Given the description of an element on the screen output the (x, y) to click on. 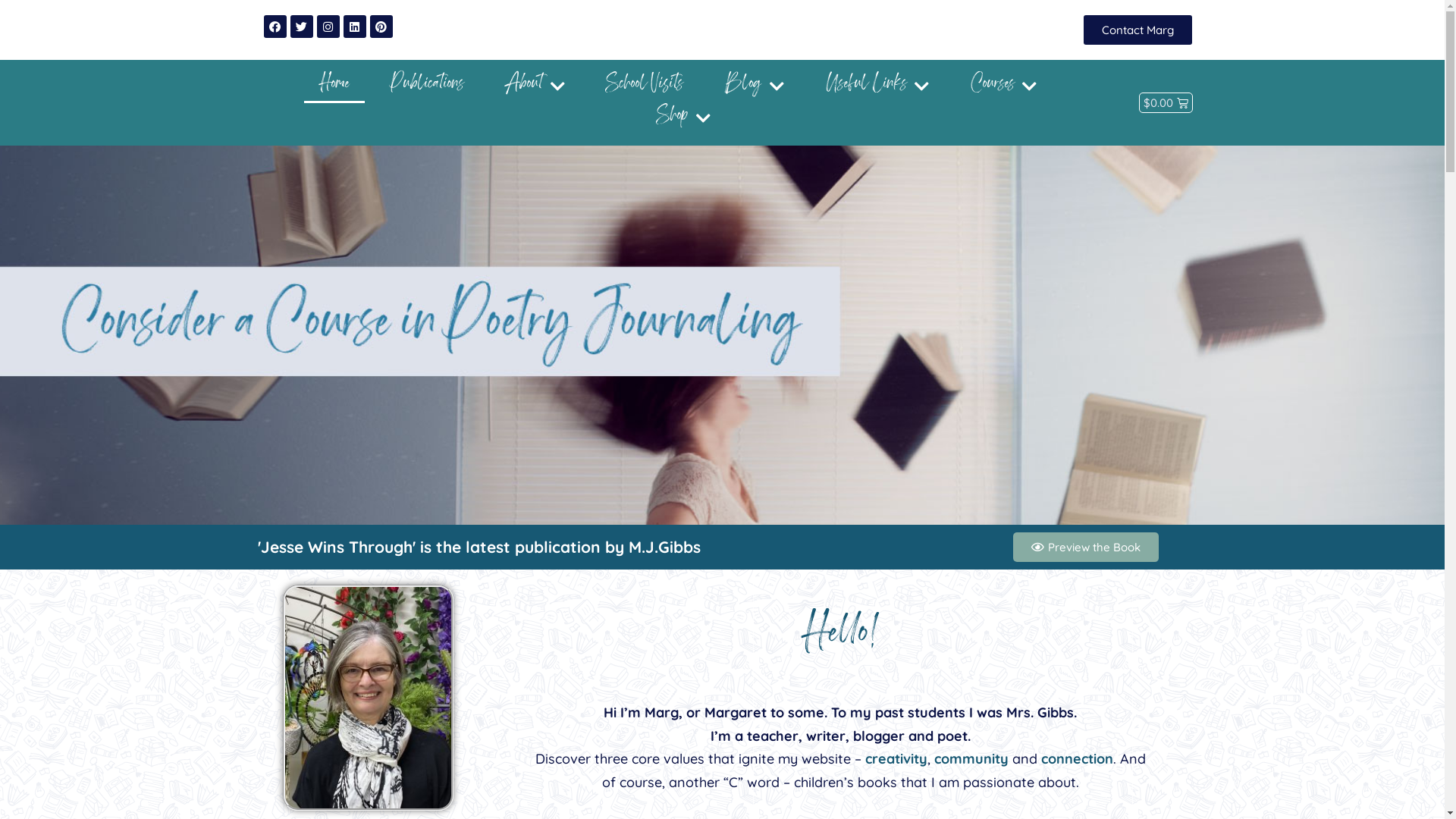
About Element type: text (535, 87)
Useful Links Element type: text (877, 87)
Contact Marg Element type: text (1137, 29)
$0.00 Element type: text (1165, 102)
Publications Element type: text (427, 87)
School Visits Element type: text (644, 87)
Courses Element type: text (1003, 87)
Preview the Book Element type: text (1085, 546)
Home Element type: text (334, 87)
Blog Element type: text (754, 87)
Shop Element type: text (682, 118)
